Given the description of an element on the screen output the (x, y) to click on. 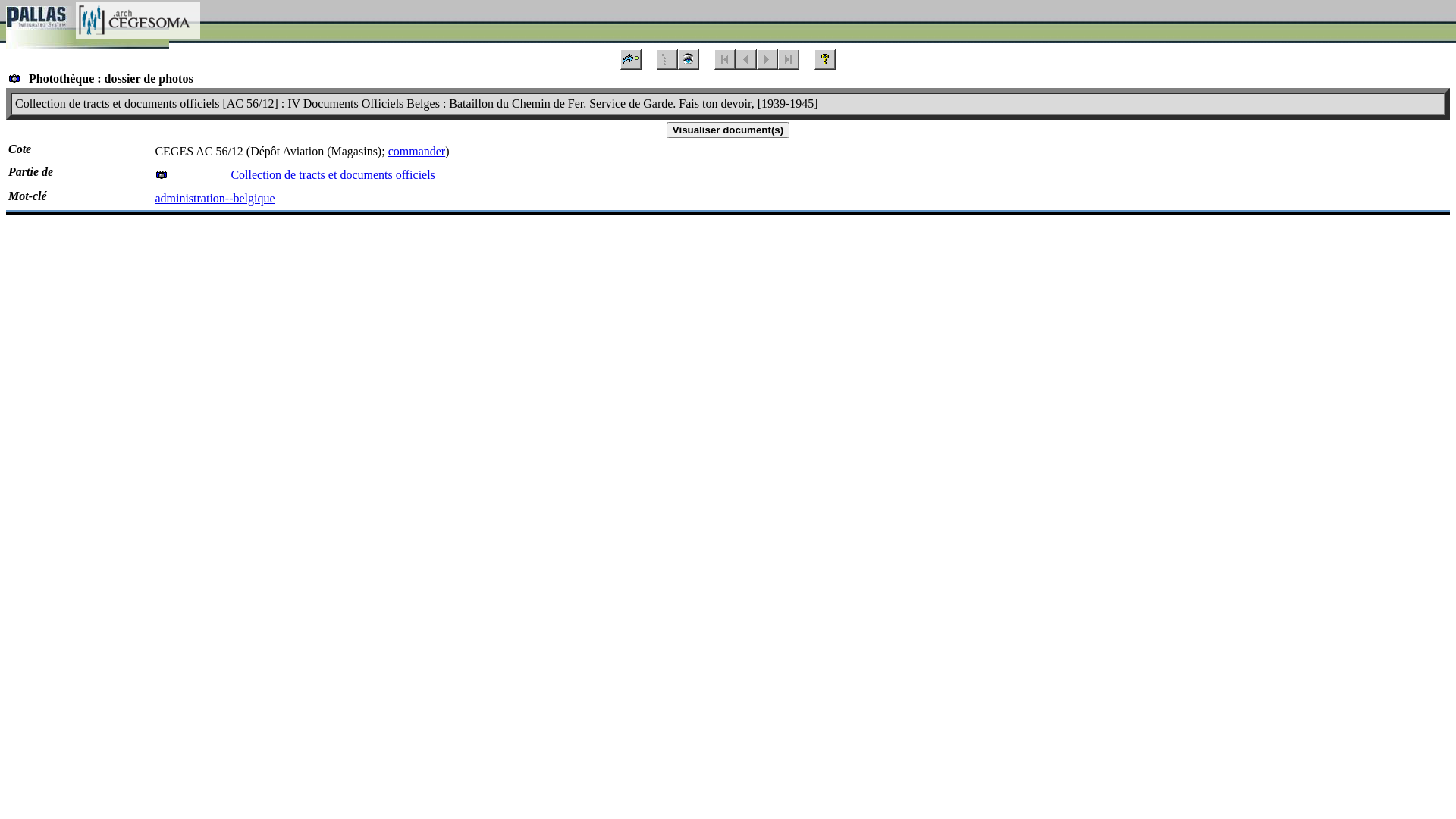
Visualiser document(s) Element type: text (727, 130)
commander Element type: text (416, 150)
Collection de tracts et documents officiels Element type: text (332, 174)
administration--belgique Element type: text (214, 197)
